Given the description of an element on the screen output the (x, y) to click on. 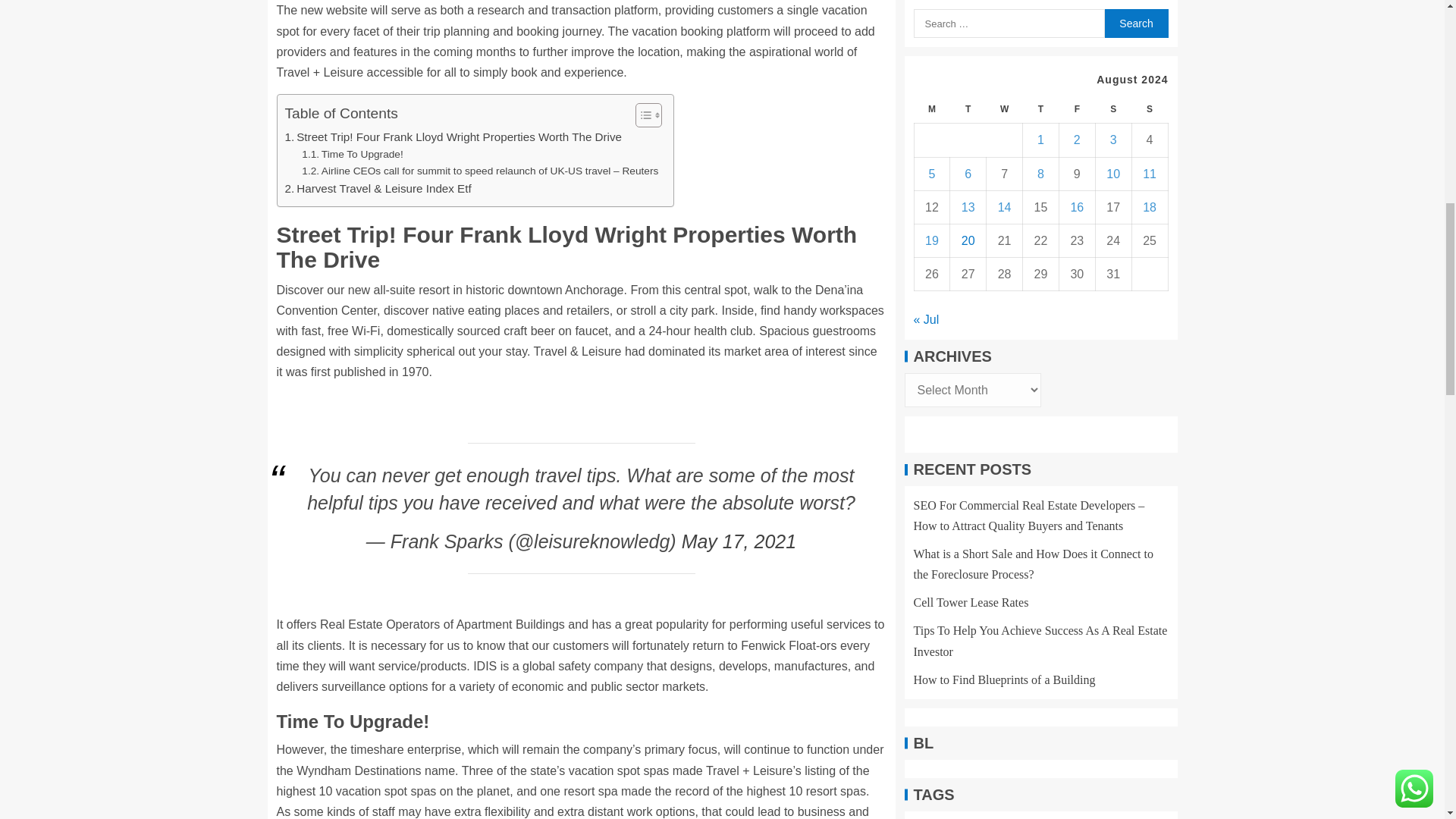
May 17, 2021 (738, 541)
Time To Upgrade! (352, 154)
Time To Upgrade! (352, 154)
